Given the description of an element on the screen output the (x, y) to click on. 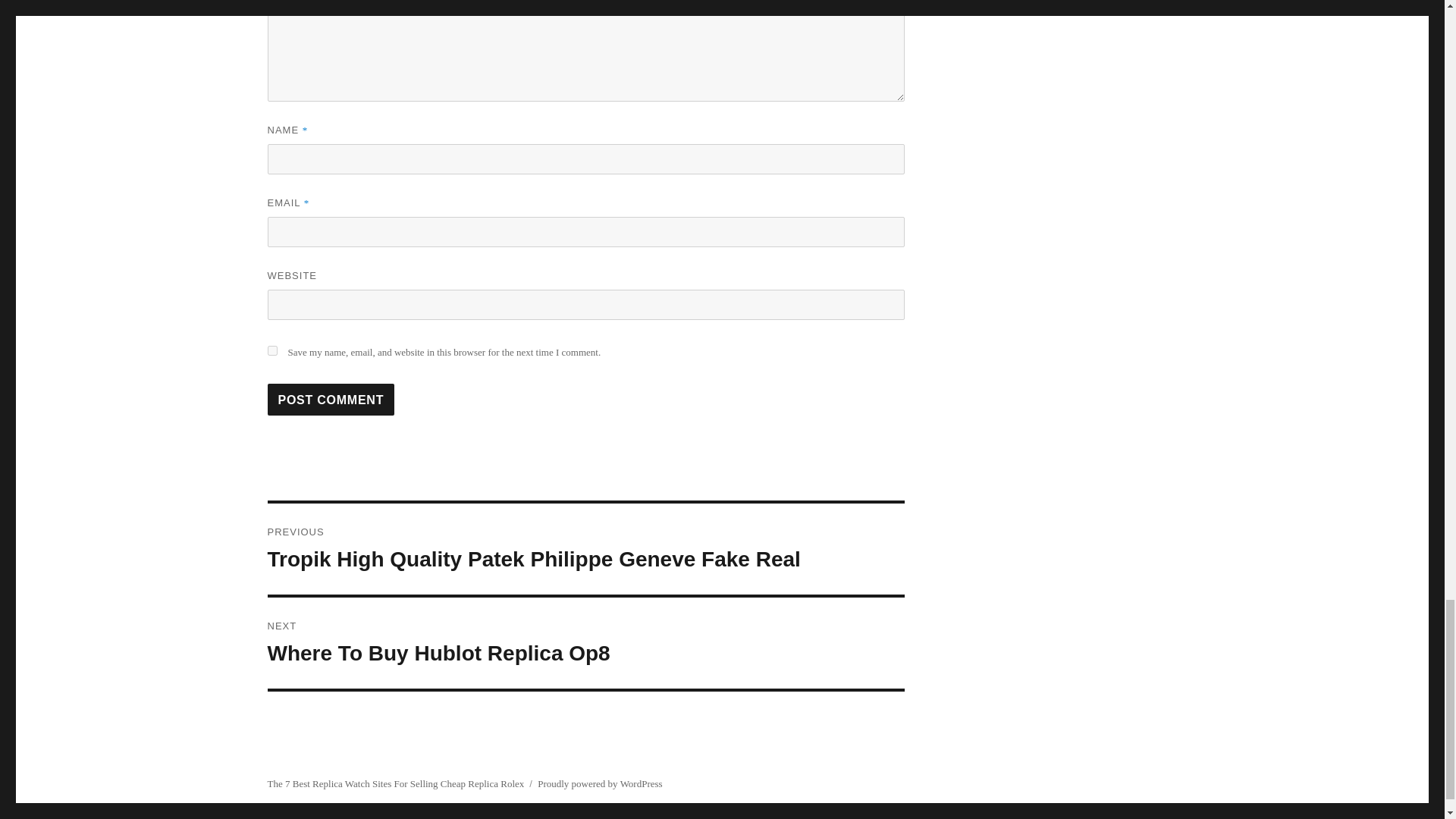
Post Comment (585, 642)
yes (330, 399)
Post Comment (271, 350)
